Given the description of an element on the screen output the (x, y) to click on. 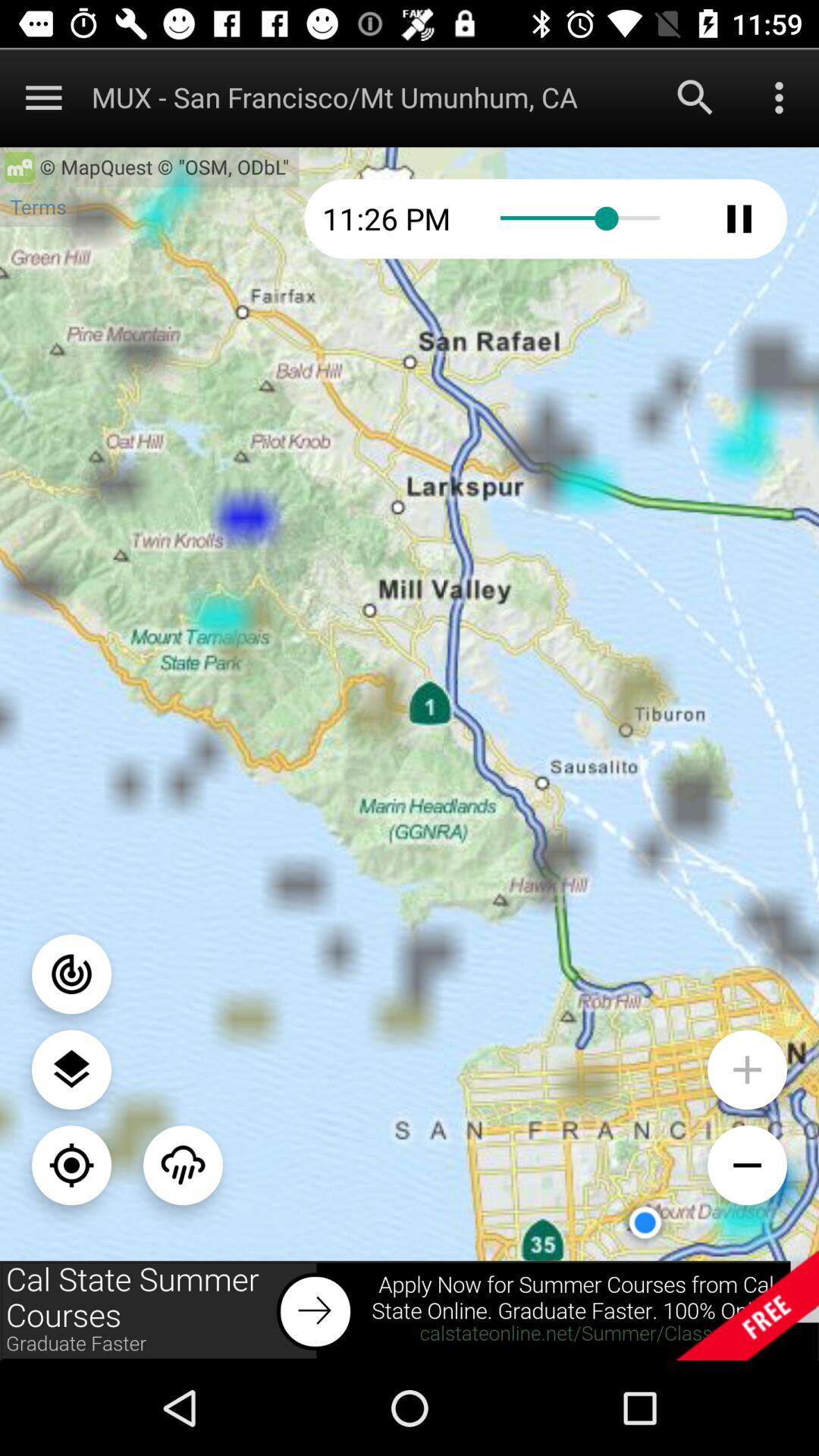
current location (71, 1165)
